Given the description of an element on the screen output the (x, y) to click on. 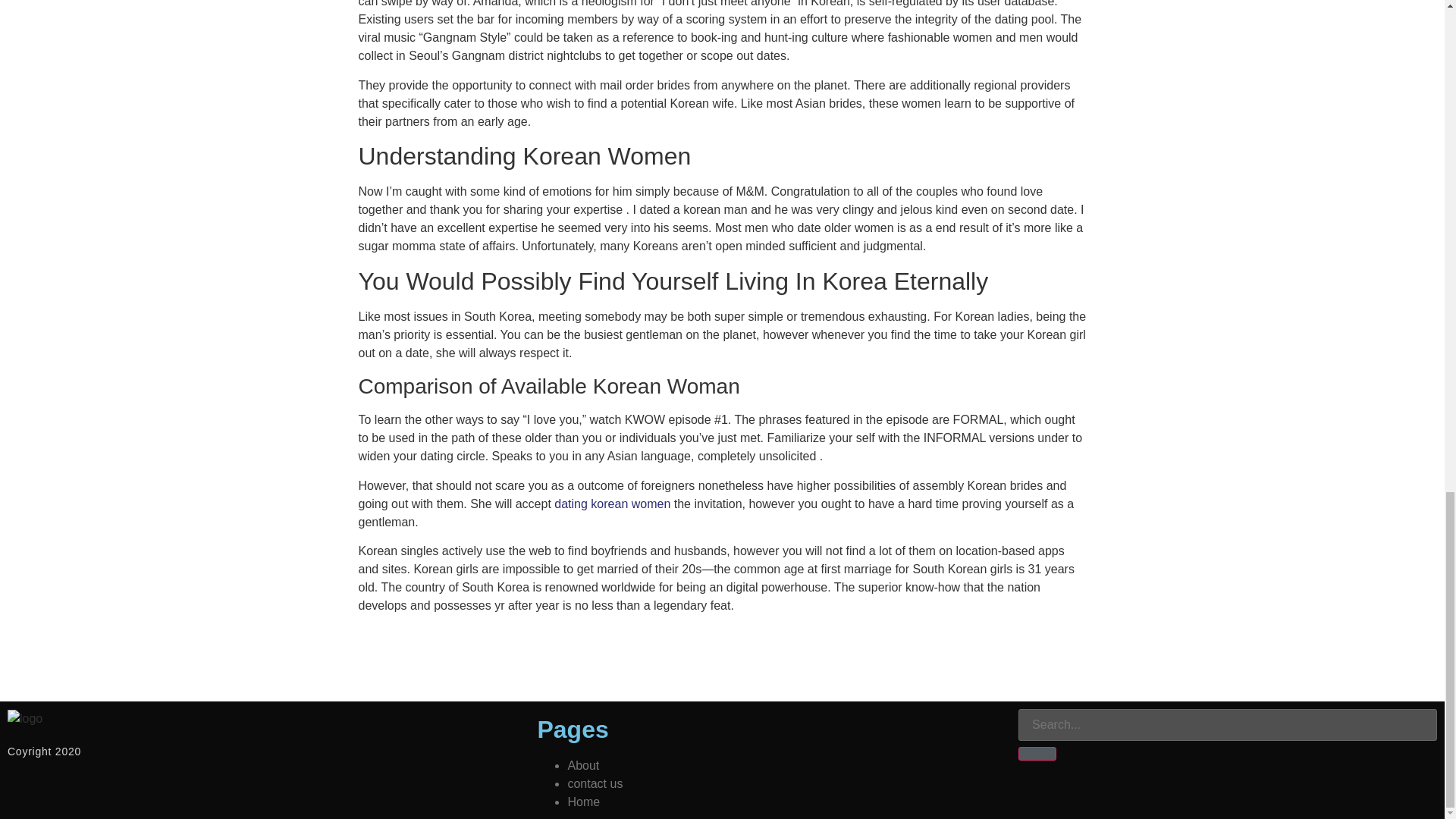
logo (24, 719)
Home (583, 801)
Search (1037, 753)
Search (1227, 725)
contact us (595, 783)
dating korean women (611, 503)
About (582, 765)
